Given the description of an element on the screen output the (x, y) to click on. 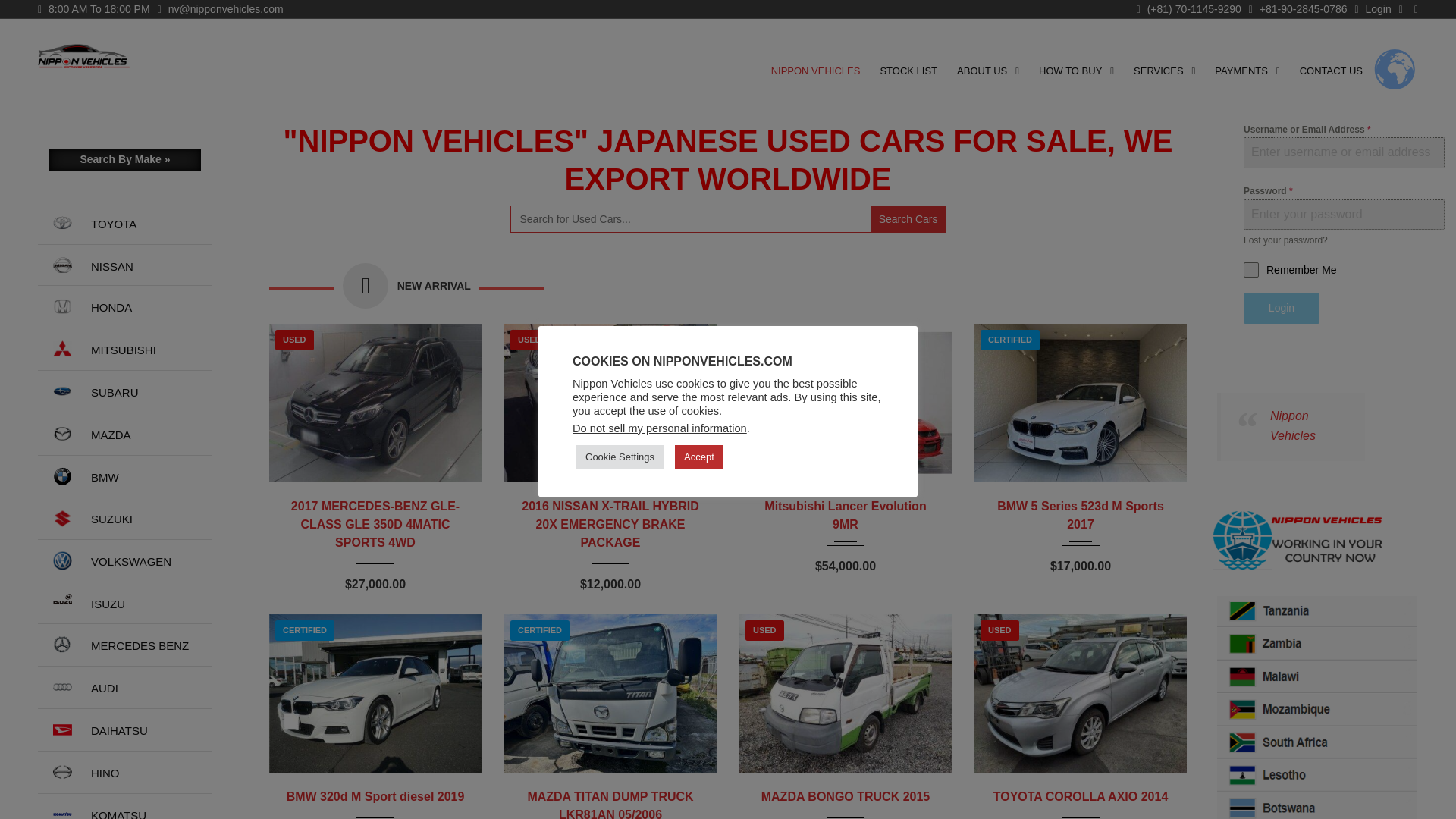
Login (1372, 9)
Search Cars (908, 218)
Search Cars (908, 218)
